Given the description of an element on the screen output the (x, y) to click on. 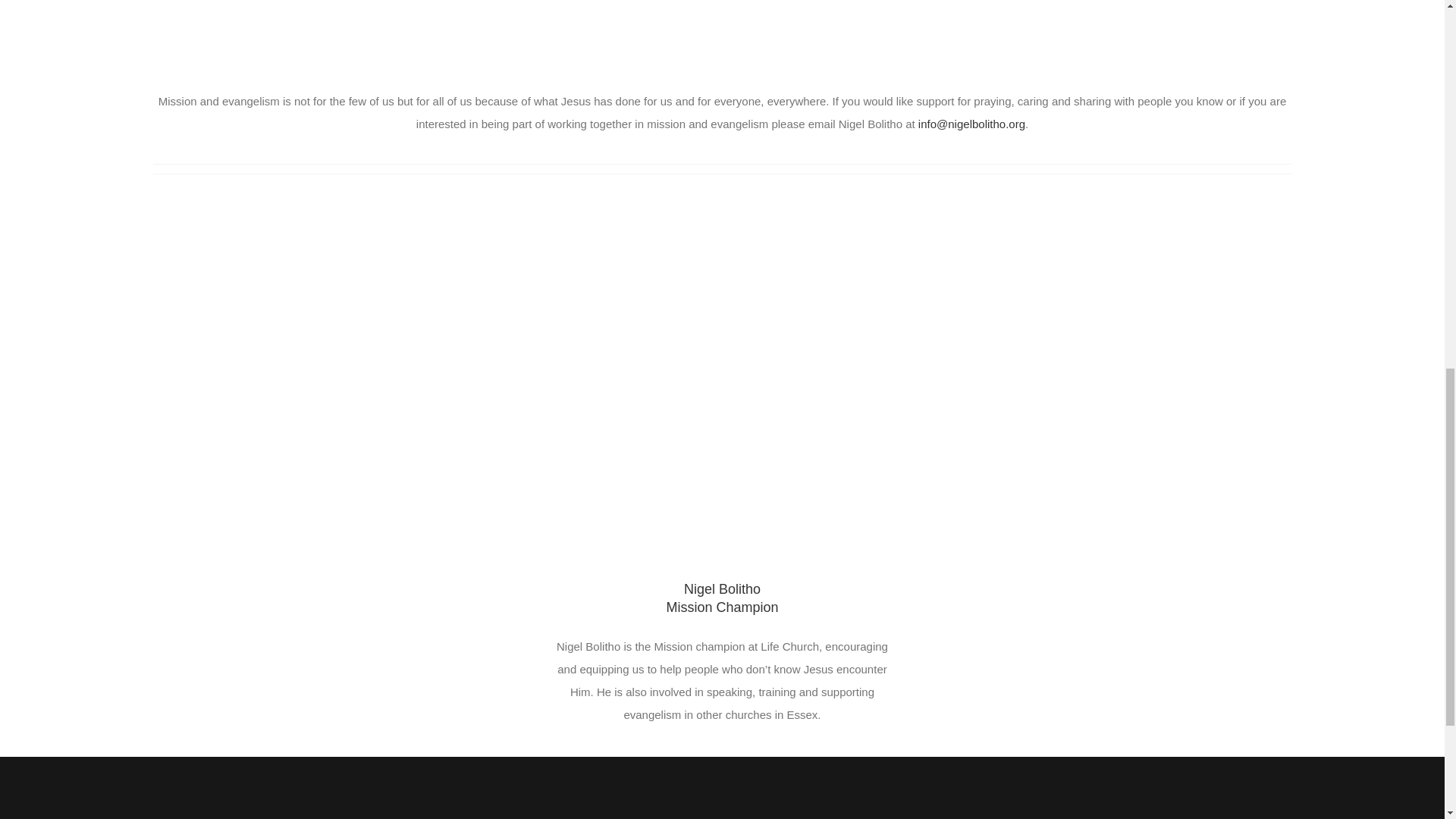
Essex Sign (721, 45)
